Given the description of an element on the screen output the (x, y) to click on. 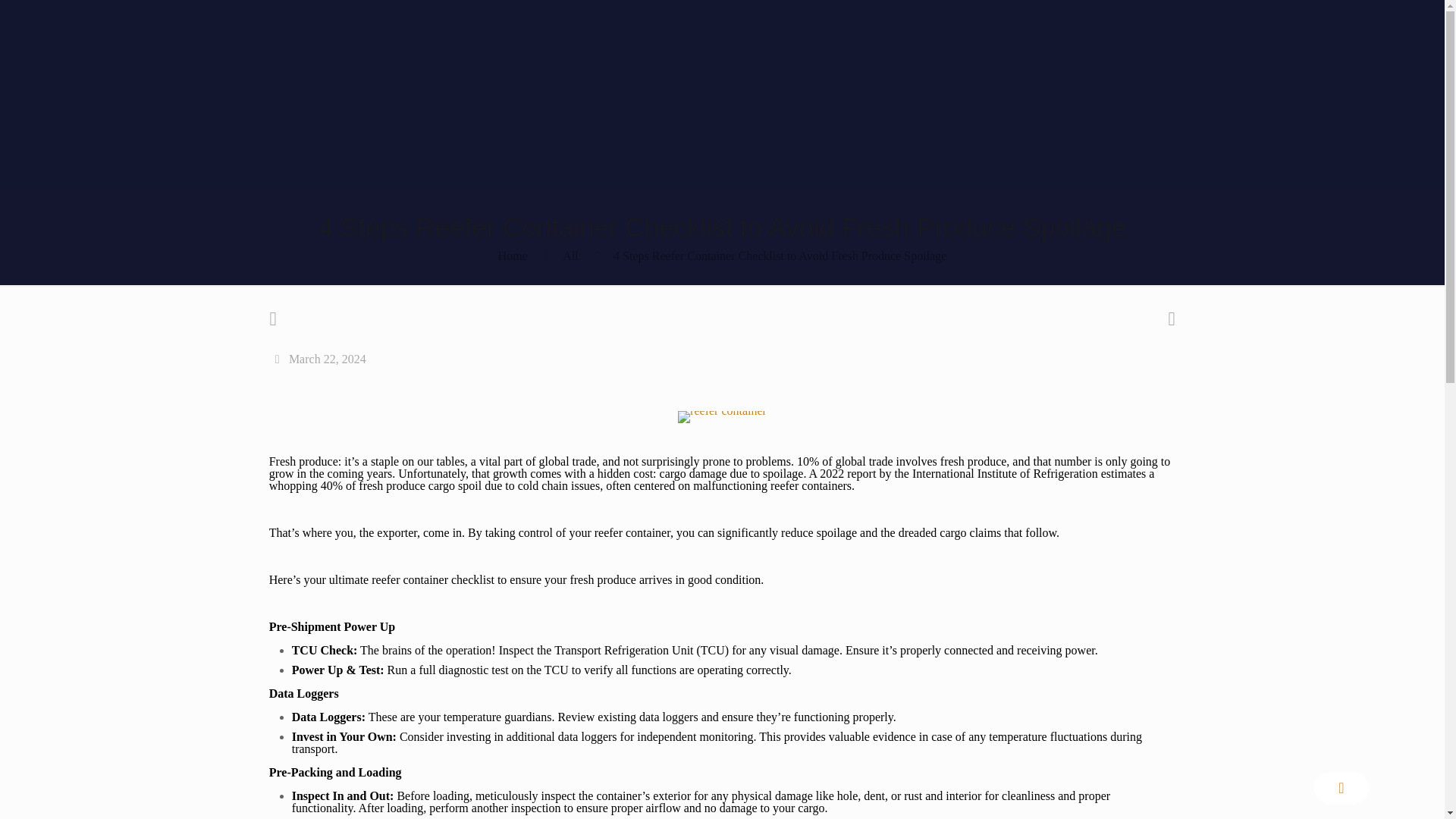
All (570, 255)
Home (512, 255)
